Given the description of an element on the screen output the (x, y) to click on. 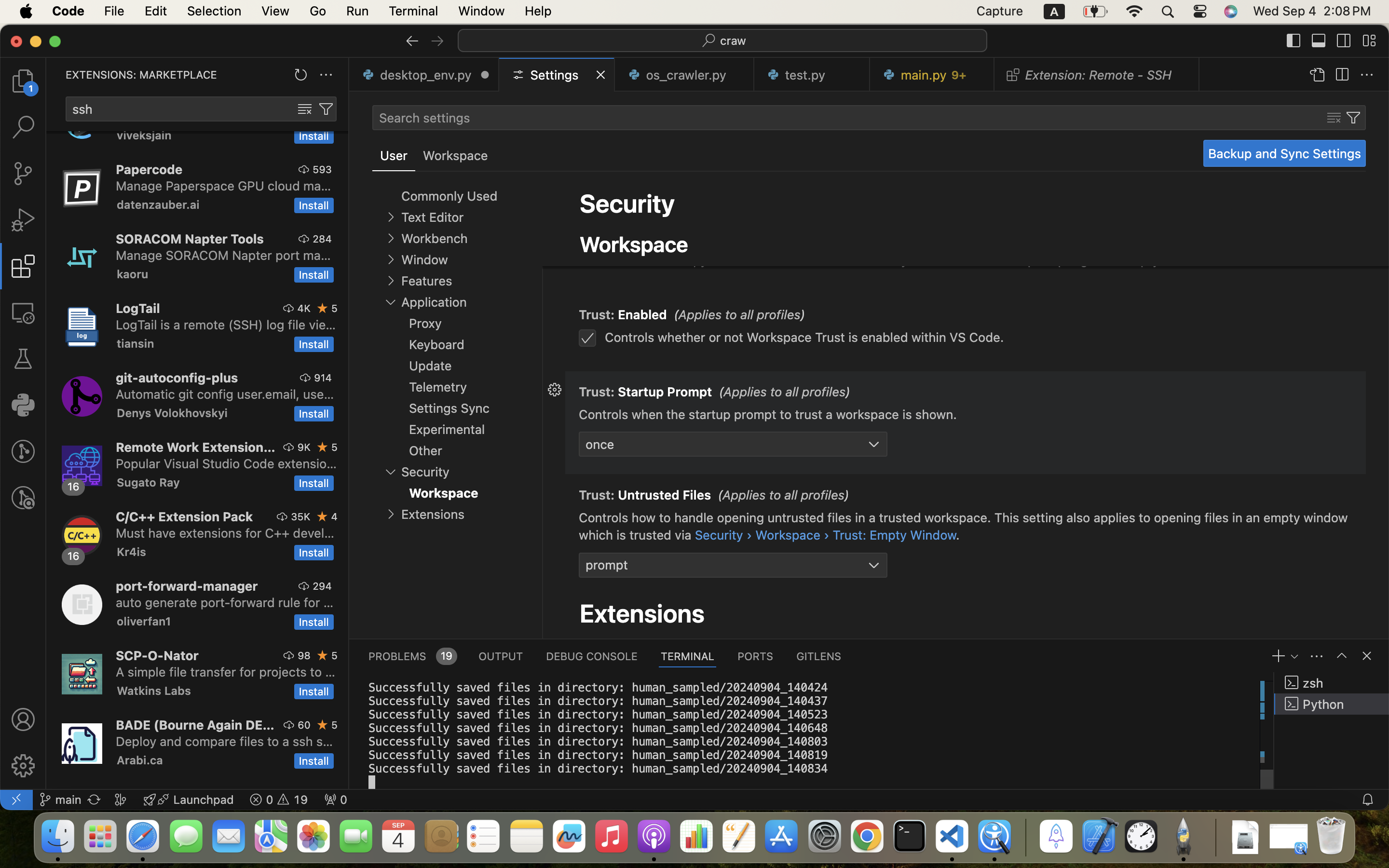
oliverfan1 Element type: AXStaticText (143, 620)
35K Element type: AXStaticText (300, 516)
viveksjain Element type: AXStaticText (143, 136)
EXTENSIONS: MARKETPLACE Element type: AXStaticText (141, 74)
 Element type: AXGroup (23, 219)
